Given the description of an element on the screen output the (x, y) to click on. 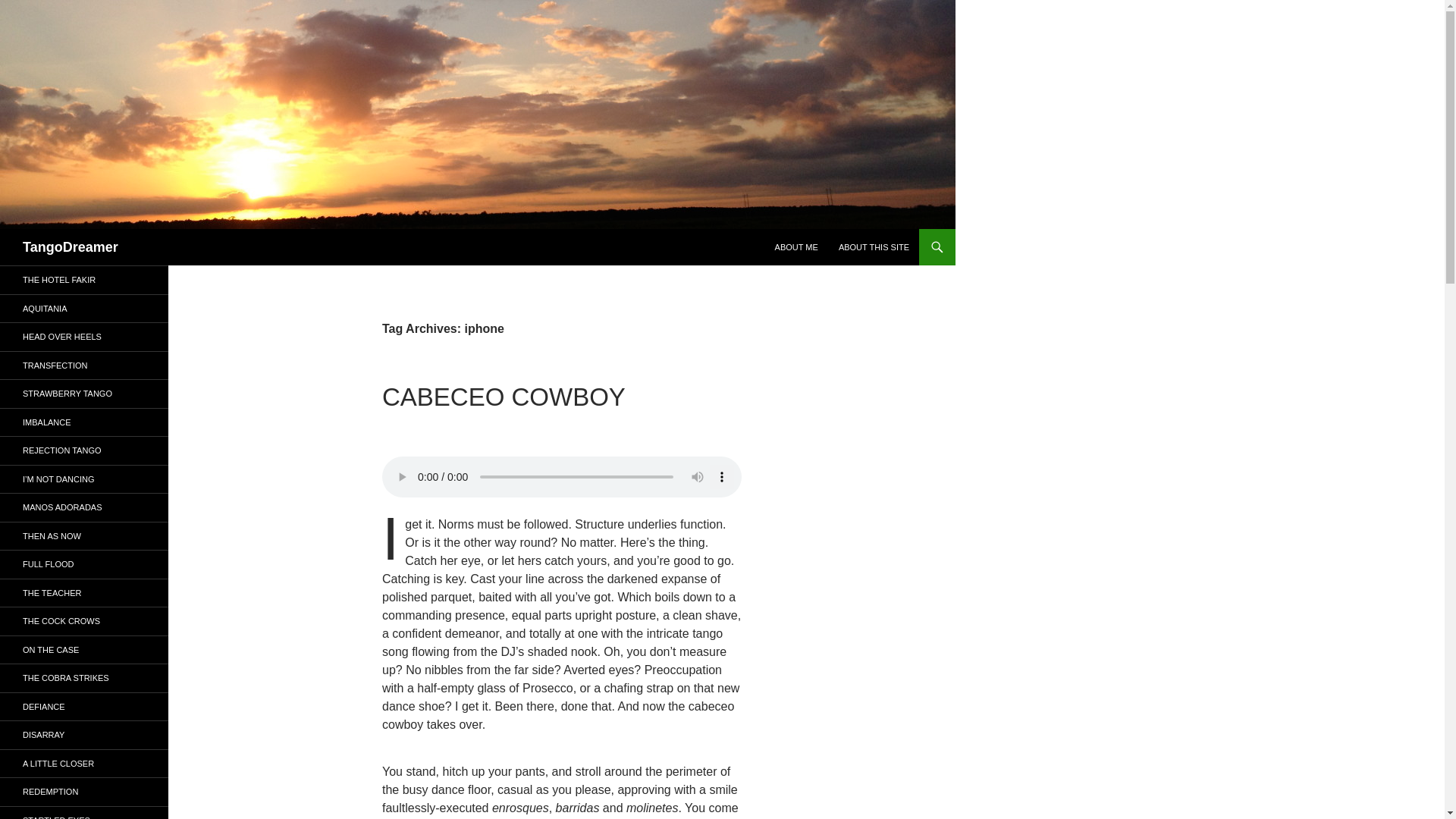
THE HOTEL FAKIR (84, 280)
MANOS ADORADAS (84, 507)
HEAD OVER HEELS (84, 336)
DISARRAY (84, 735)
TRANSFECTION (84, 366)
IMBALANCE (84, 421)
ABOUT ME (796, 247)
ABOUT THIS SITE (873, 247)
ON THE CASE (84, 649)
DEFIANCE (84, 706)
TangoDreamer (70, 247)
STRAWBERRY TANGO (84, 393)
A LITTLE CLOSER (84, 763)
THEN AS NOW (84, 535)
